Given the description of an element on the screen output the (x, y) to click on. 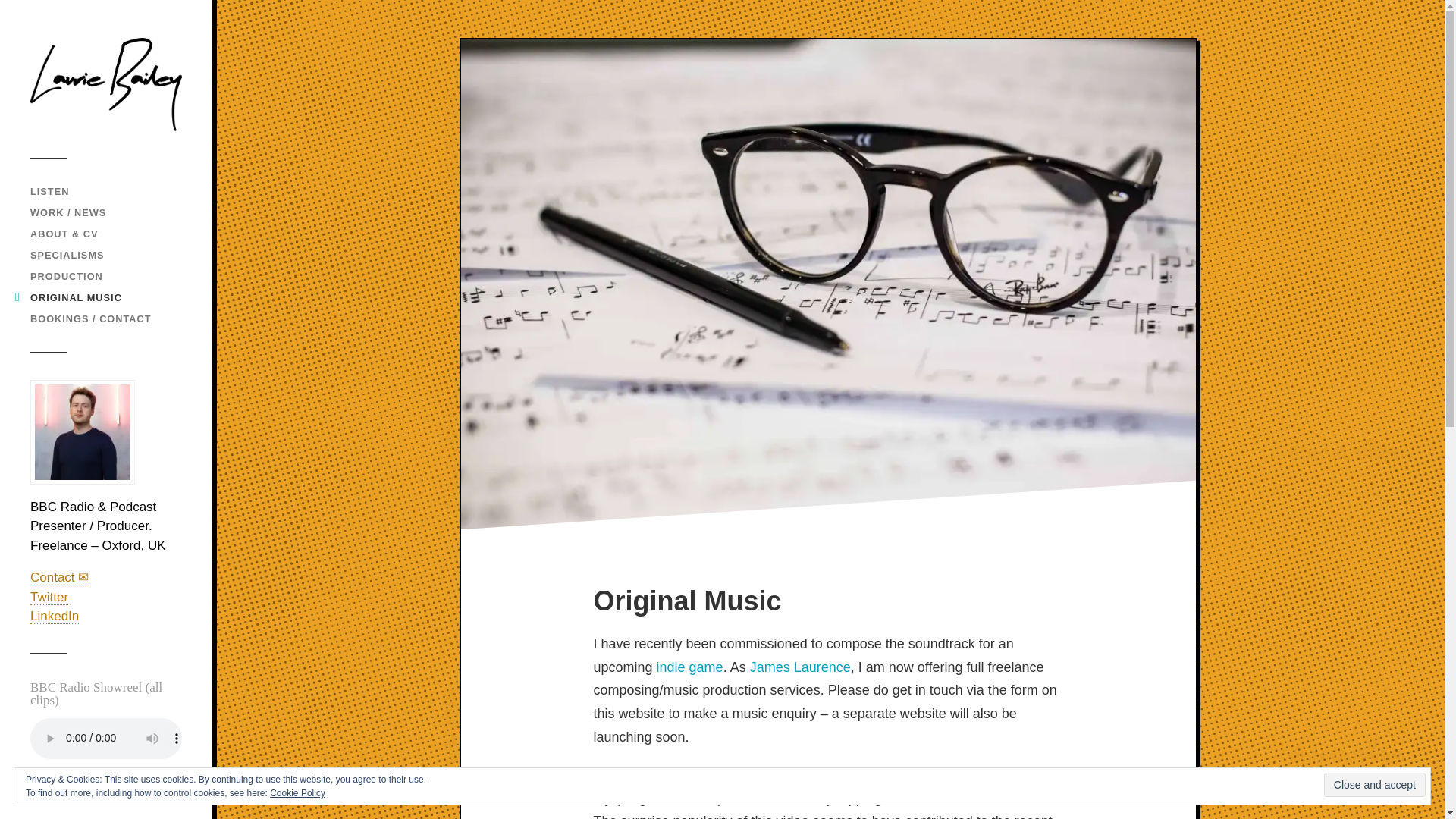
LinkedIn (54, 616)
SPECIALISMS (67, 255)
Close and accept (1374, 784)
indie game (689, 667)
Cookie Policy (296, 792)
2 million views on YouTube (967, 798)
LISTEN (49, 191)
Twitter (49, 597)
James Laurence (799, 667)
Close and accept (1374, 784)
ORIGINAL MUSIC (76, 297)
PRODUCTION (66, 276)
